Given the description of an element on the screen output the (x, y) to click on. 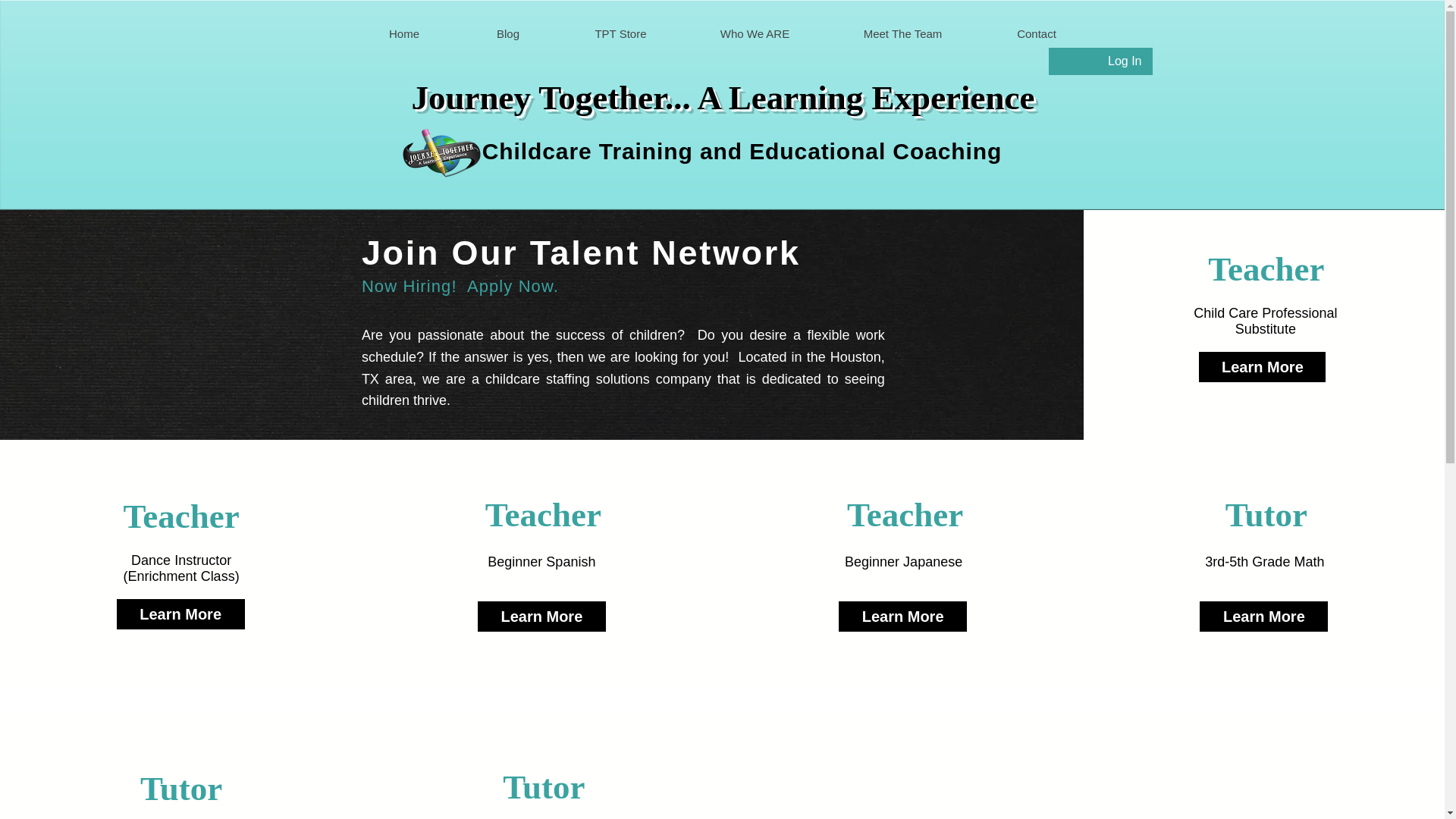
Meet The Team (902, 33)
Learn More (1261, 367)
Contact (1035, 33)
Learn More (541, 616)
Who We ARE (753, 33)
Log In (1124, 61)
Home (403, 33)
Blog (507, 33)
TPT Store (619, 33)
Learn More (180, 613)
Learn More (902, 616)
Learn More (1263, 616)
